Given the description of an element on the screen output the (x, y) to click on. 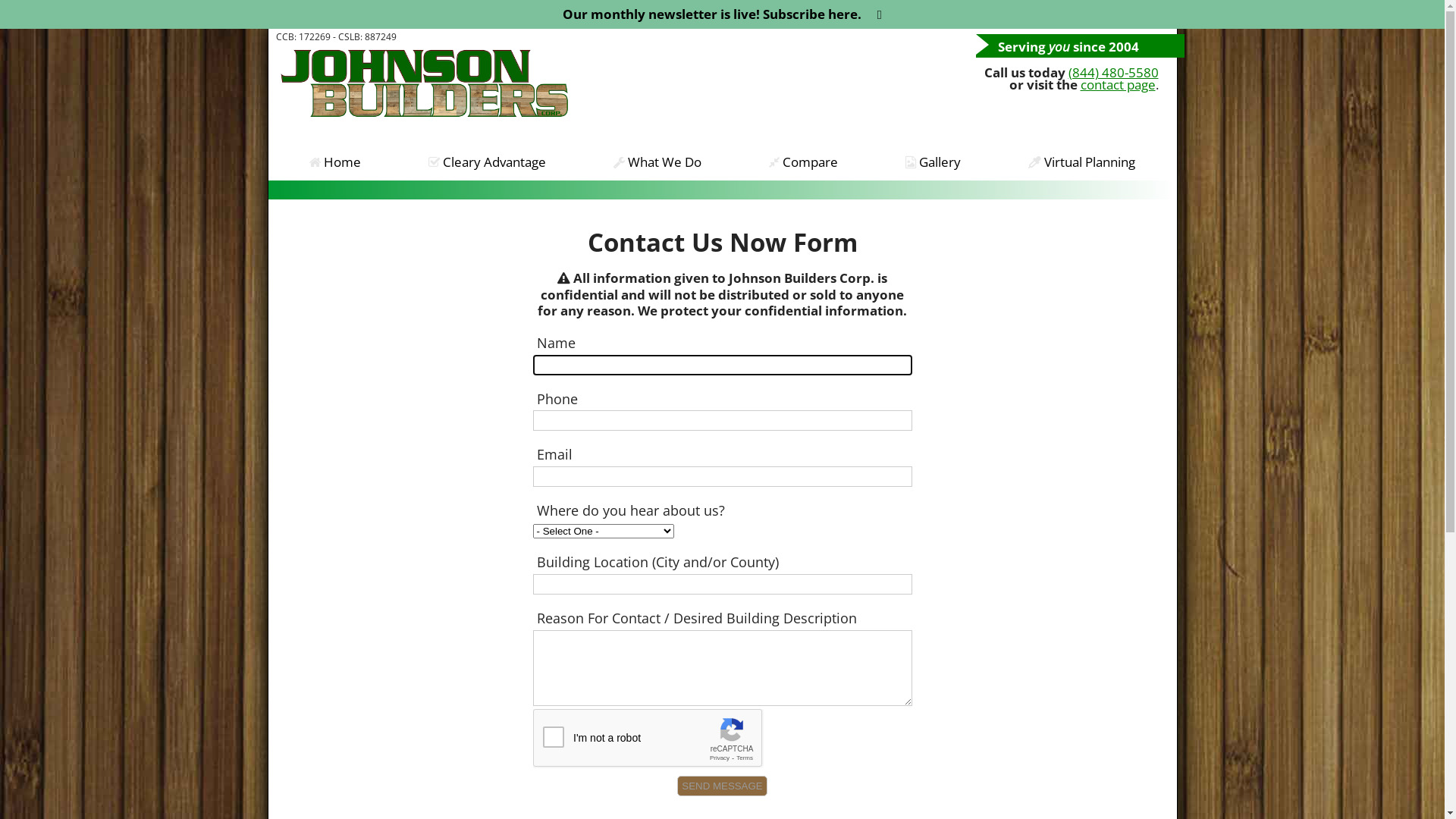
Send Message Element type: text (721, 785)
contact page Element type: text (1116, 84)
(844) 480-5580 Element type: text (1112, 72)
Virtual Planning Element type: text (1081, 162)
Compare Element type: text (803, 162)
Gallery Element type: text (933, 162)
Our monthly newsletter is live! Subscribe here. Element type: text (711, 13)
Home Element type: text (335, 162)
Cleary Advantage Element type: text (486, 162)
reCAPTCHA Element type: hover (647, 738)
What We Do Element type: text (656, 162)
